Given the description of an element on the screen output the (x, y) to click on. 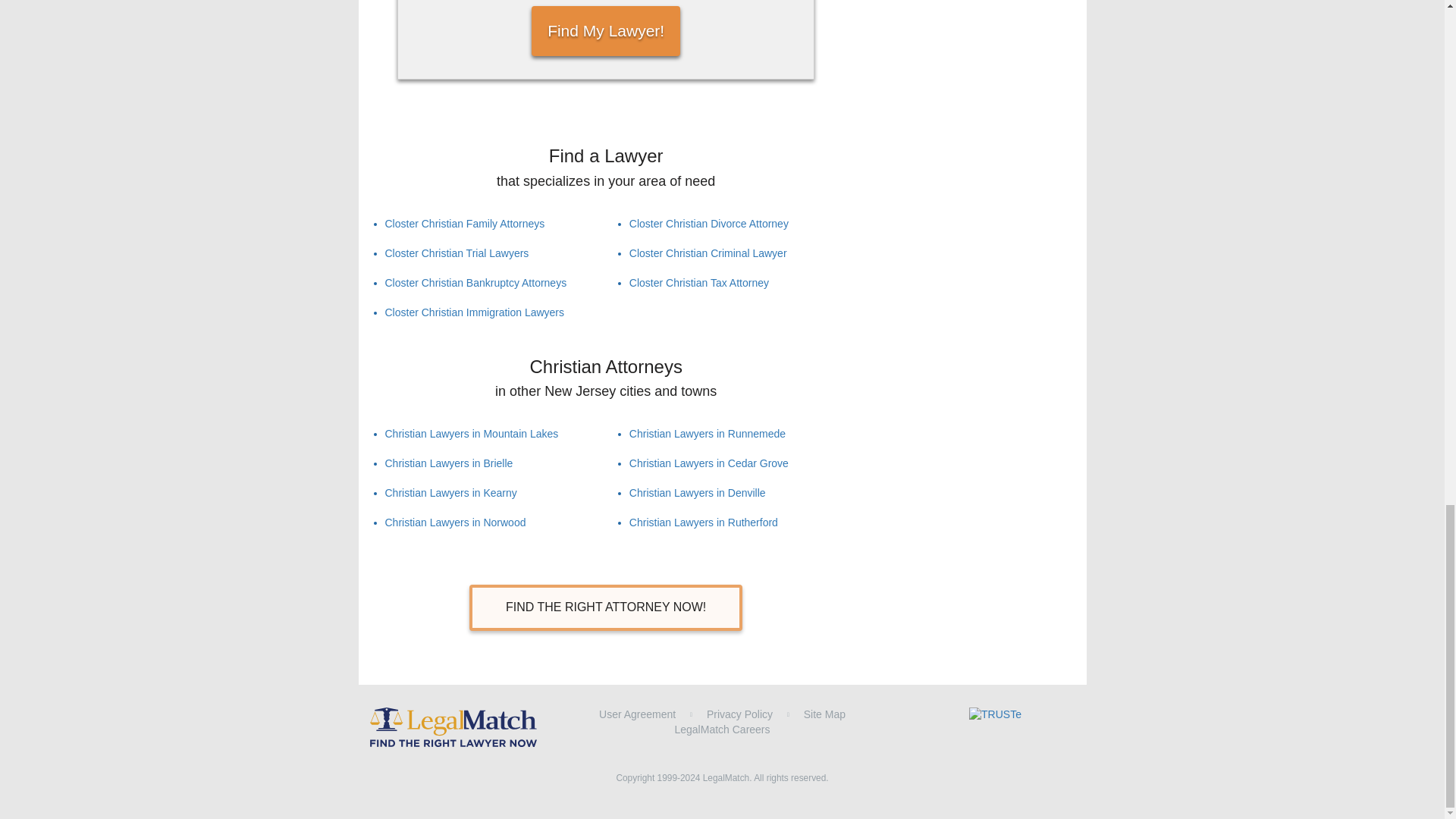
LegalMatch Careers (722, 729)
